Given the description of an element on the screen output the (x, y) to click on. 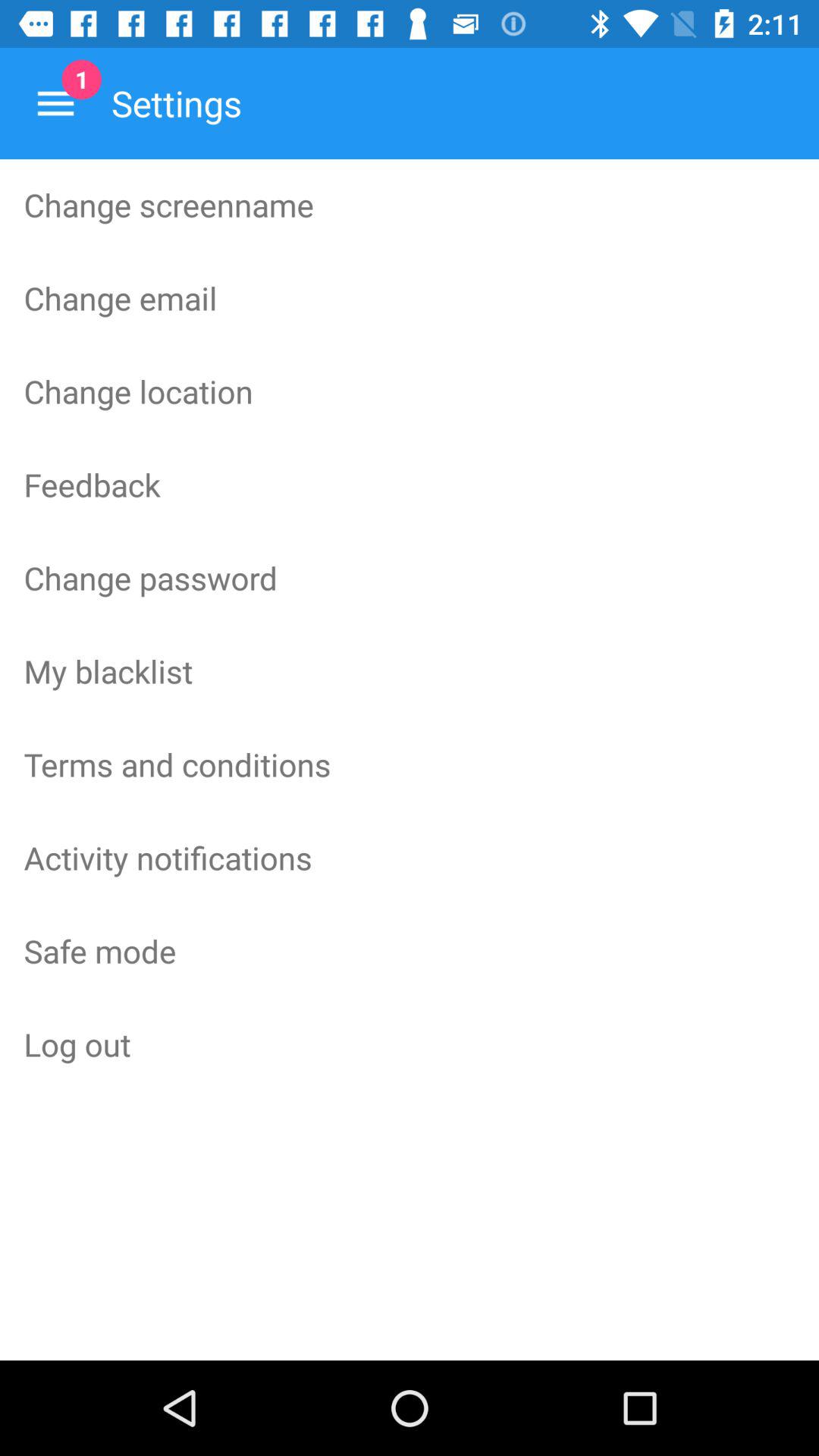
launch the icon below the change screenname (409, 297)
